Given the description of an element on the screen output the (x, y) to click on. 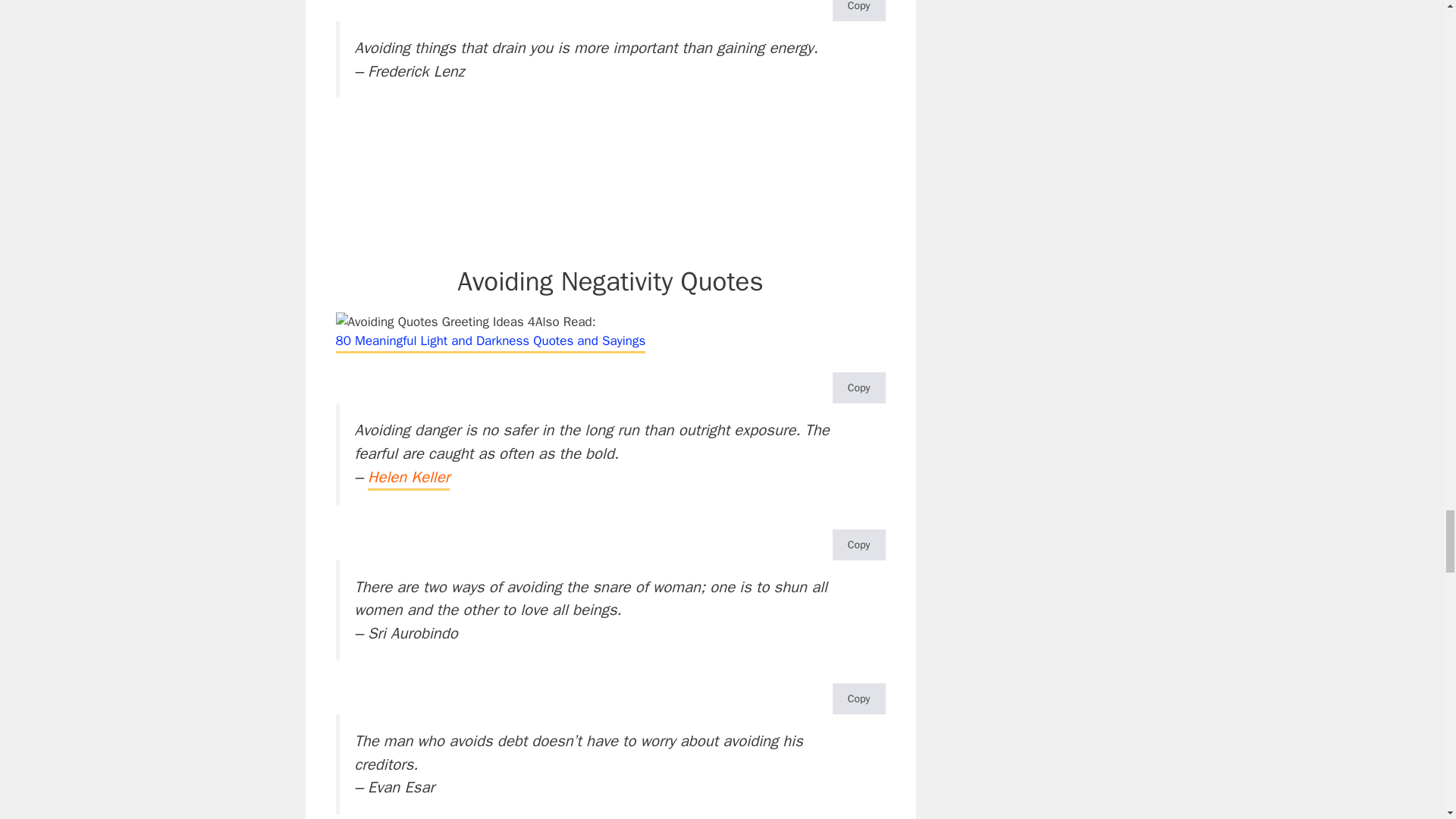
Copy (858, 387)
80 Meaningful Light and Darkness Quotes and Sayings (489, 341)
Helen Keller (408, 478)
Copy (858, 544)
Copy (858, 698)
Copy (858, 10)
